Given the description of an element on the screen output the (x, y) to click on. 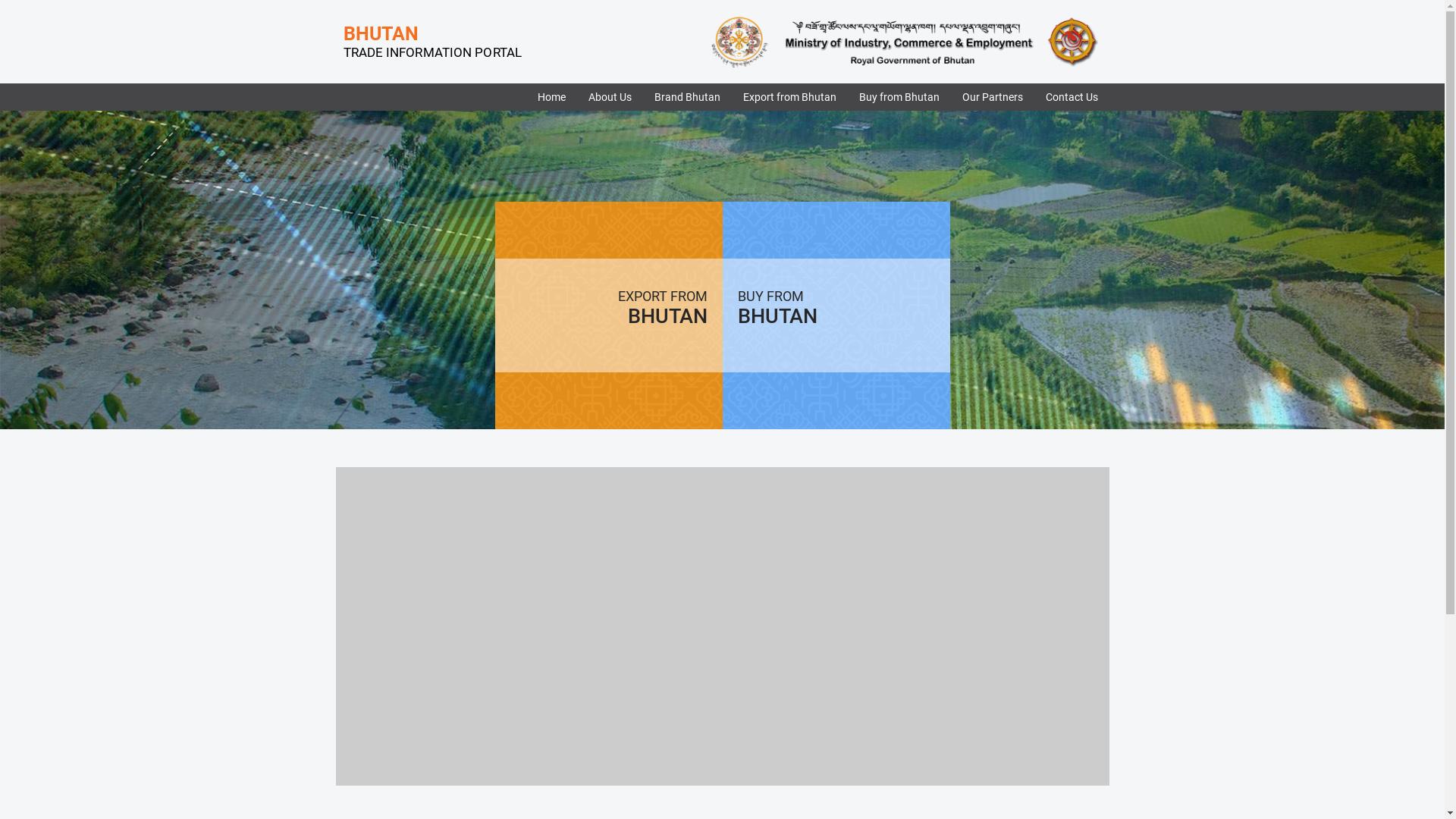
Home Element type: text (550, 97)
Export from Bhutan Element type: text (789, 97)
EXPORT FROM
BHUTAN Element type: text (607, 315)
About Us Element type: text (609, 97)
Brand Bhutan Element type: text (686, 97)
Our Partners Element type: text (991, 97)
BUY FROM
BHUTAN Element type: text (835, 315)
Buy from Bhutan Element type: text (898, 97)
Contact Us Element type: text (1070, 97)
BHUTAN
TRADE INFORMATION PORTAL Element type: text (427, 41)
